Given the description of an element on the screen output the (x, y) to click on. 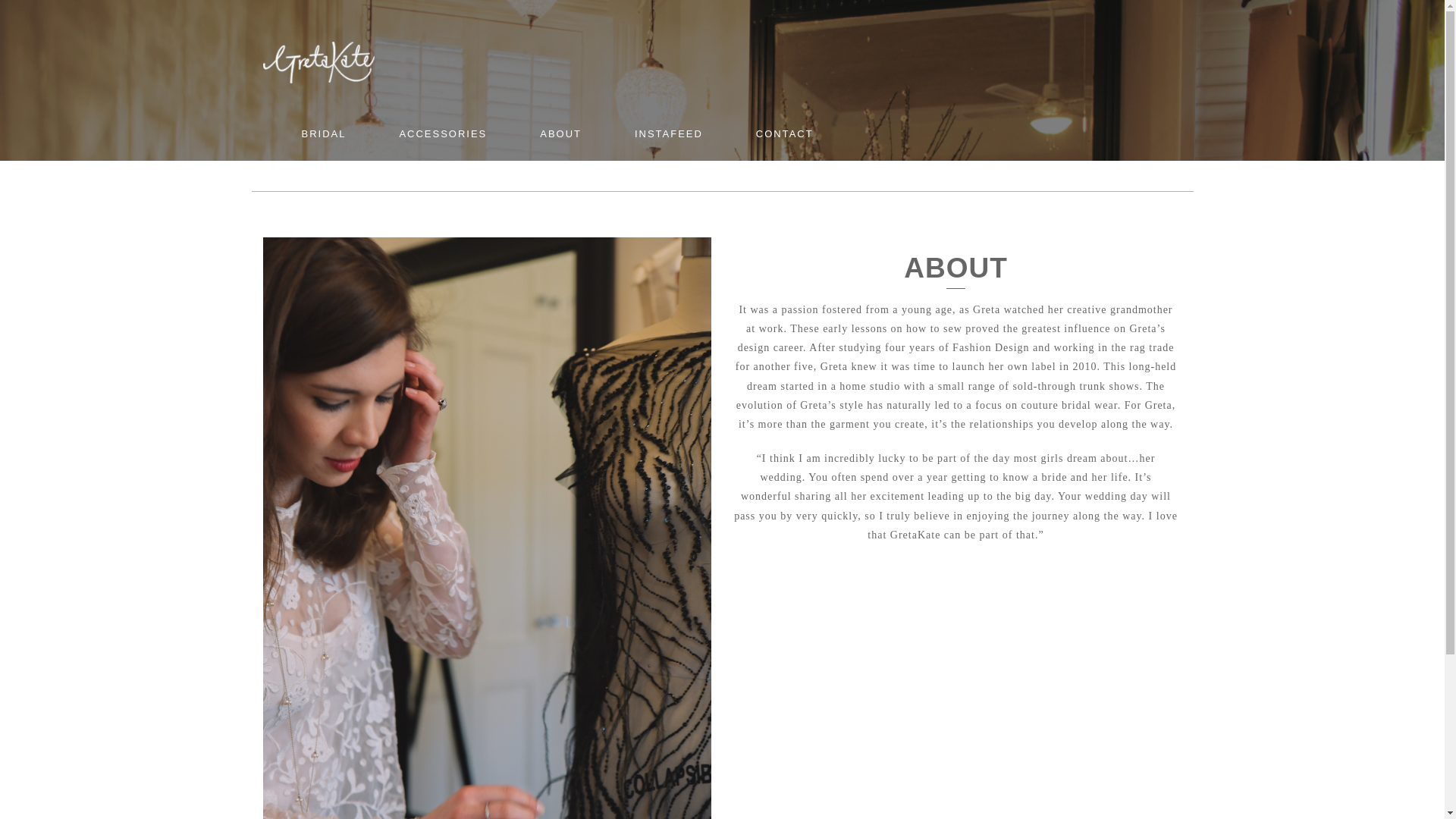
BRIDAL Element type: text (323, 133)
CONTACT Element type: text (784, 133)
INSTAFEED Element type: text (668, 133)
ACCESSORIES Element type: text (442, 133)
ABOUT Element type: text (560, 133)
